Given the description of an element on the screen output the (x, y) to click on. 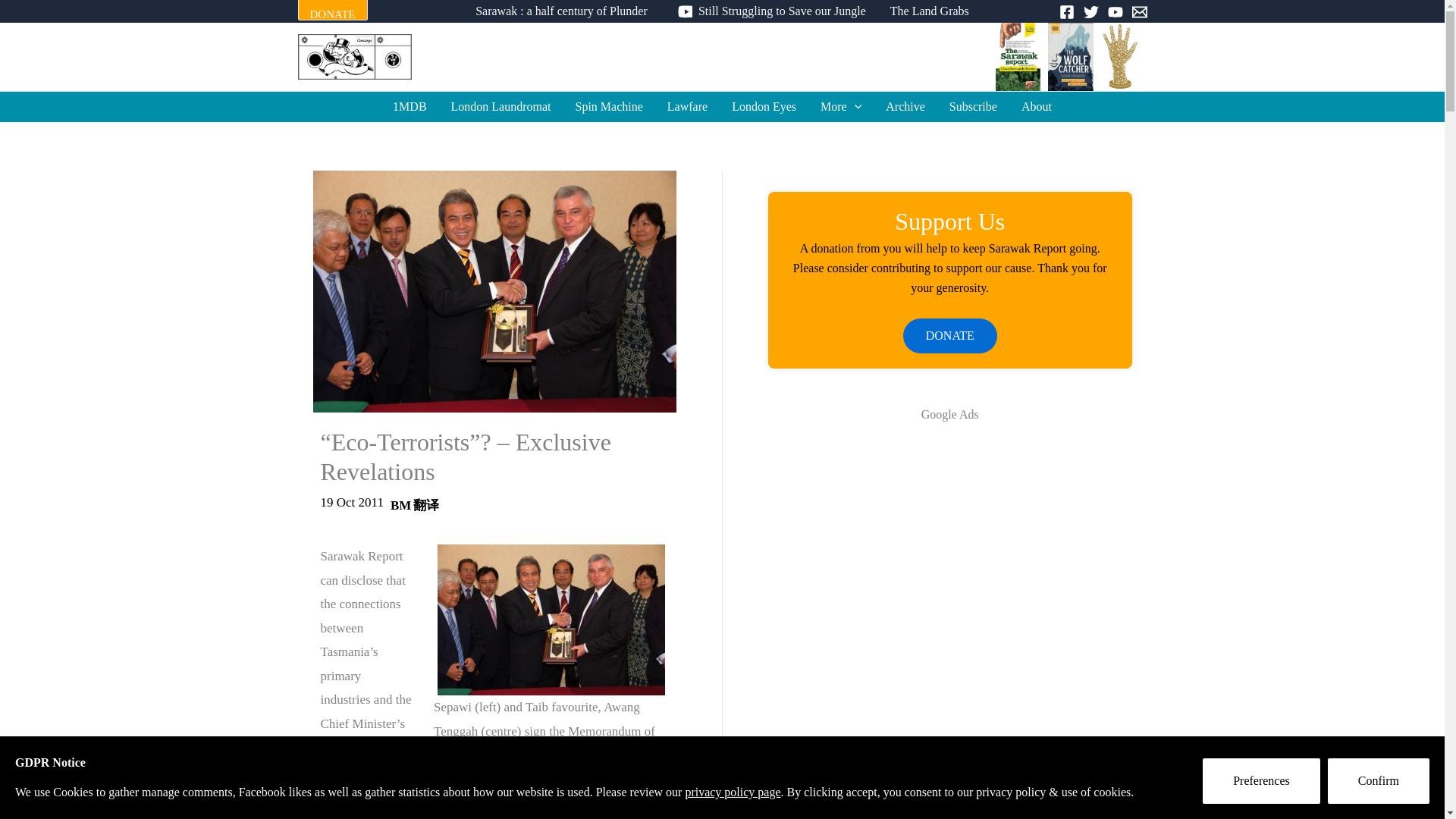
Lawfare (687, 106)
More (840, 106)
About (1036, 106)
Spin Machine (609, 106)
1MDB (409, 106)
DONATE (331, 10)
Archive (905, 106)
Subscribe (973, 106)
Still Struggling to Save our Jungle (768, 11)
Hamed Awang Tenggah and tasmania hydro (551, 619)
